Given the description of an element on the screen output the (x, y) to click on. 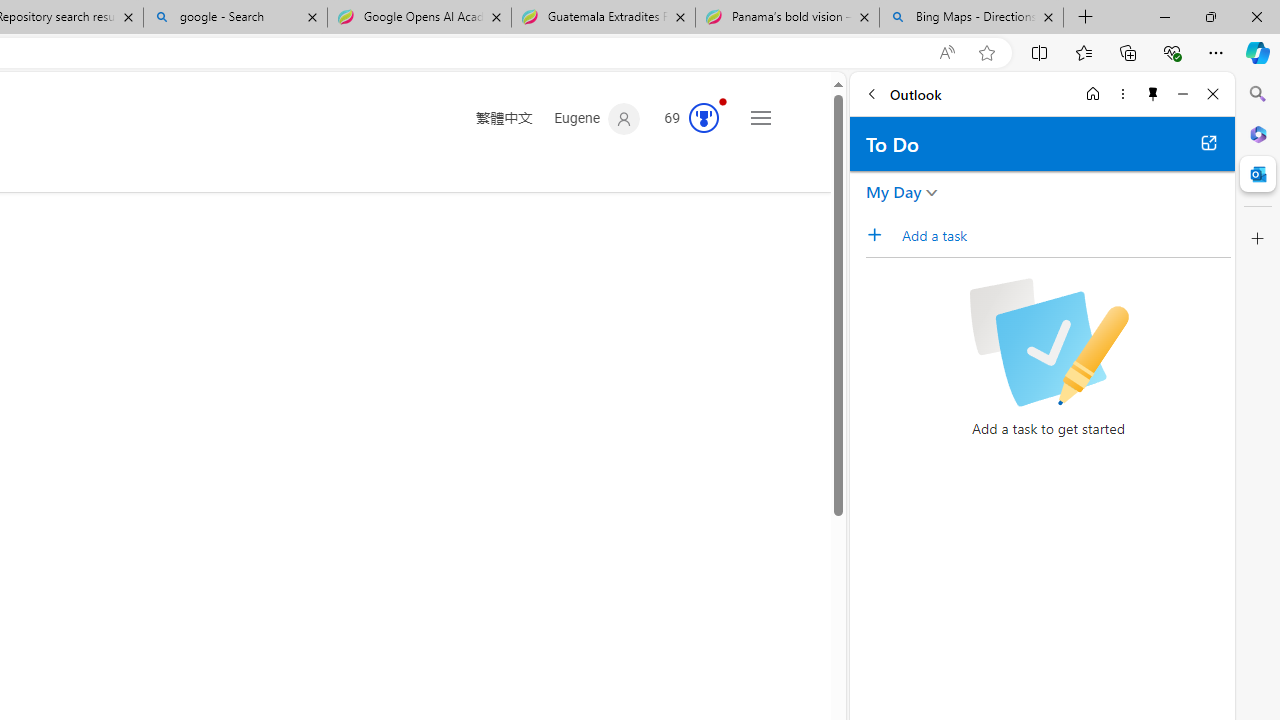
AutomationID: serp_medal_svg (703, 117)
Google Opens AI Academy for Startups - Nearshore Americas (418, 17)
Eugene (597, 119)
Add a task (881, 235)
Add a task (1065, 235)
